Given the description of an element on the screen output the (x, y) to click on. 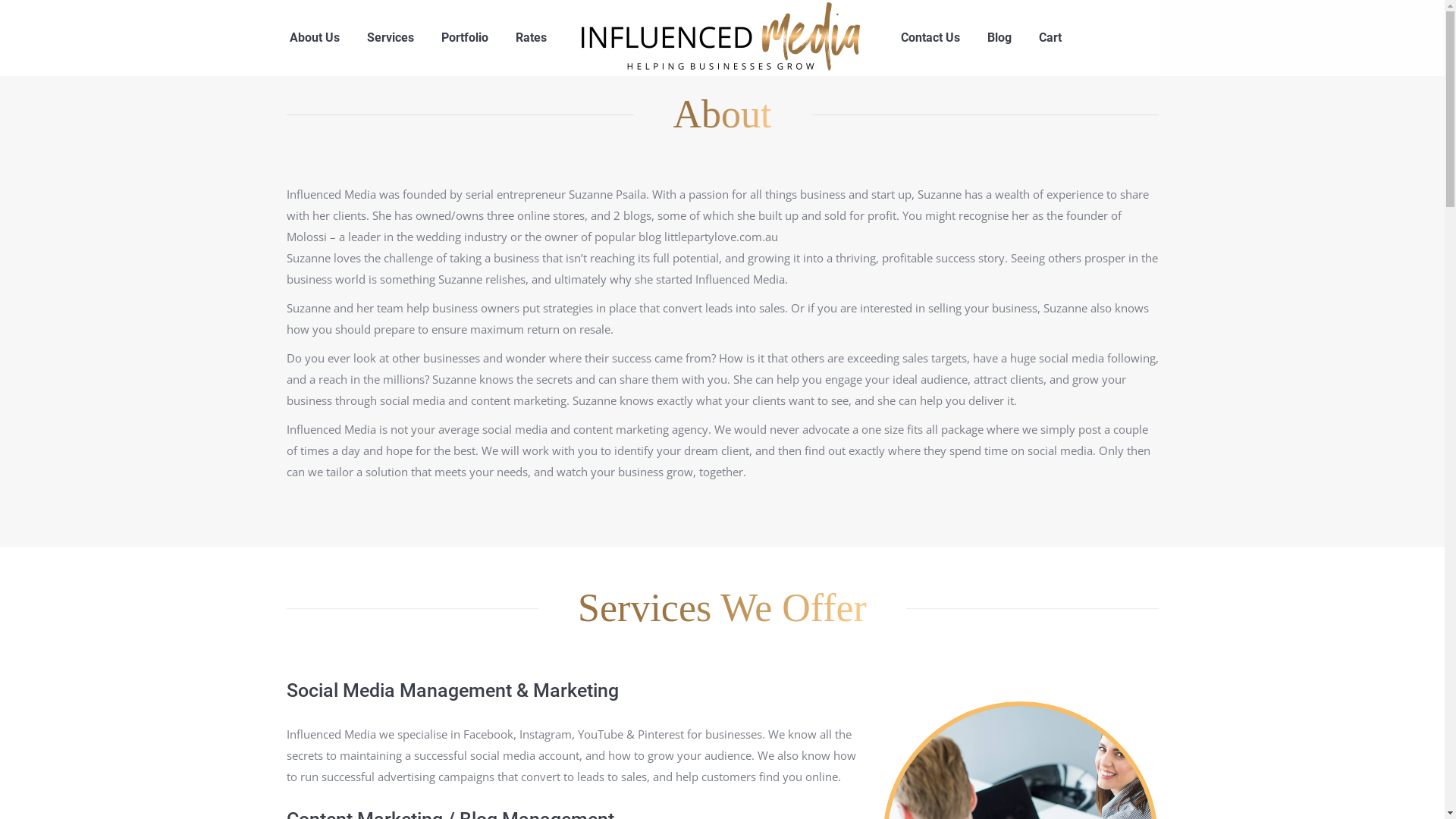
About Us Element type: text (314, 37)
Contact Us Element type: text (930, 37)
Rates Element type: text (530, 37)
Blog Element type: text (999, 37)
Cart Element type: text (1049, 37)
Services Element type: text (390, 37)
Portfolio Element type: text (464, 37)
